Given the description of an element on the screen output the (x, y) to click on. 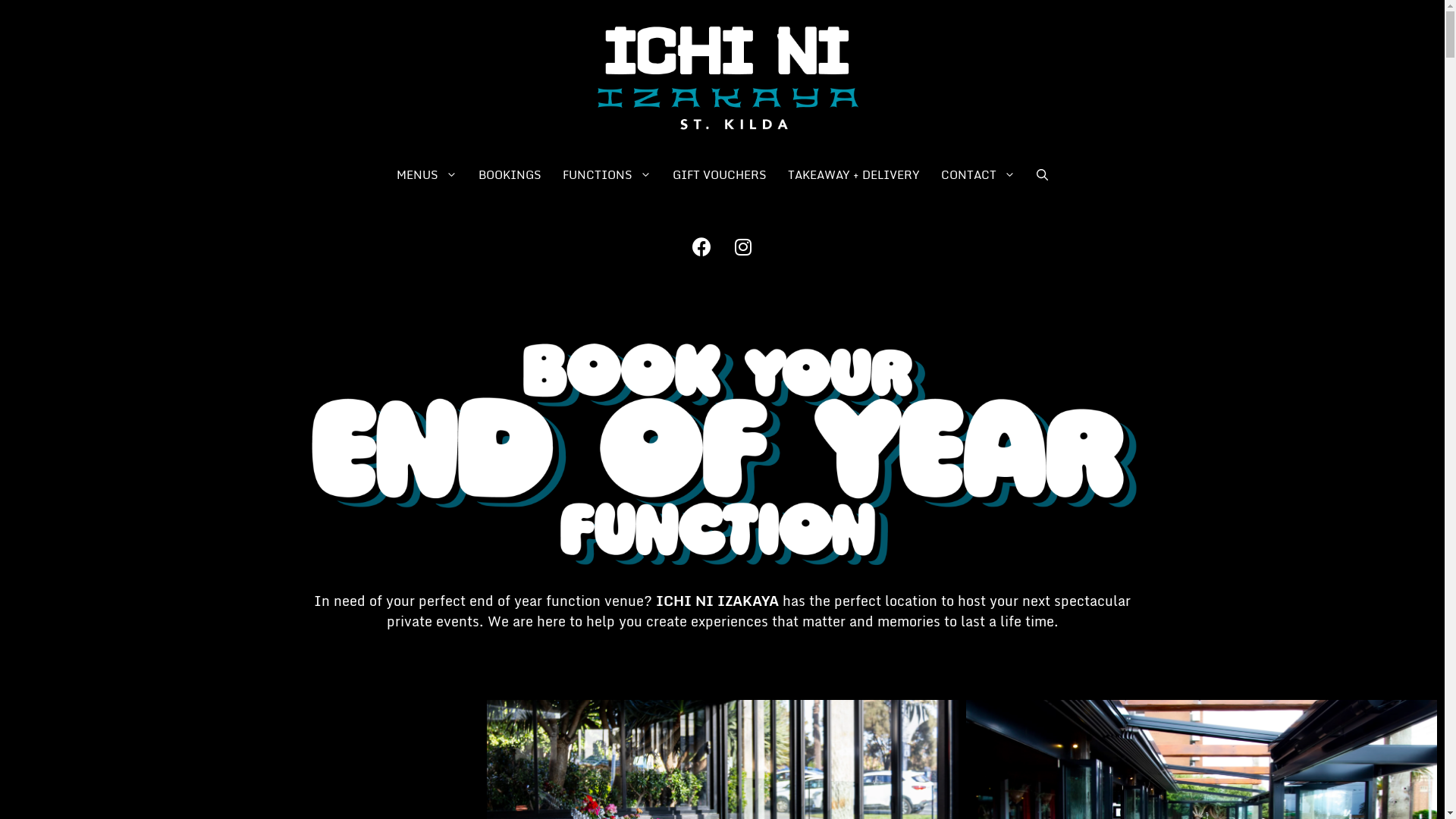
CONTACT Element type: text (978, 174)
GIFT VOUCHERS Element type: text (719, 174)
FUNCTIONS Element type: text (607, 174)
TAKEAWAY + DELIVERY Element type: text (853, 174)
MENUS Element type: text (426, 174)
BOOKINGS Element type: text (509, 174)
